Given the description of an element on the screen output the (x, y) to click on. 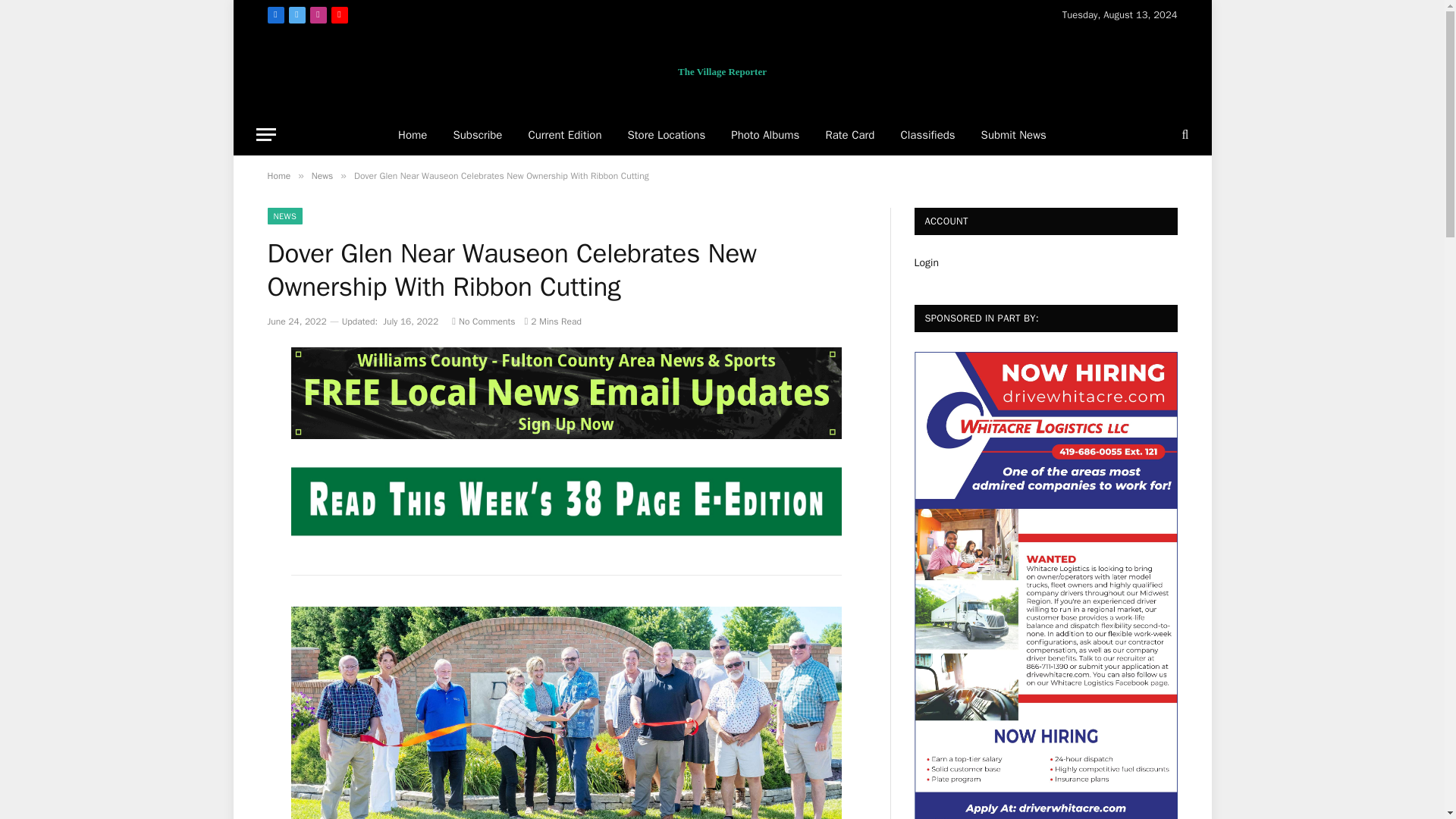
YouTube (338, 14)
Facebook (274, 14)
Subscribe (477, 134)
No Comments (483, 321)
Home (277, 175)
Store Locations (665, 134)
News (322, 175)
Instagram (317, 14)
Current Edition (564, 134)
Photo Albums (764, 134)
